Given the description of an element on the screen output the (x, y) to click on. 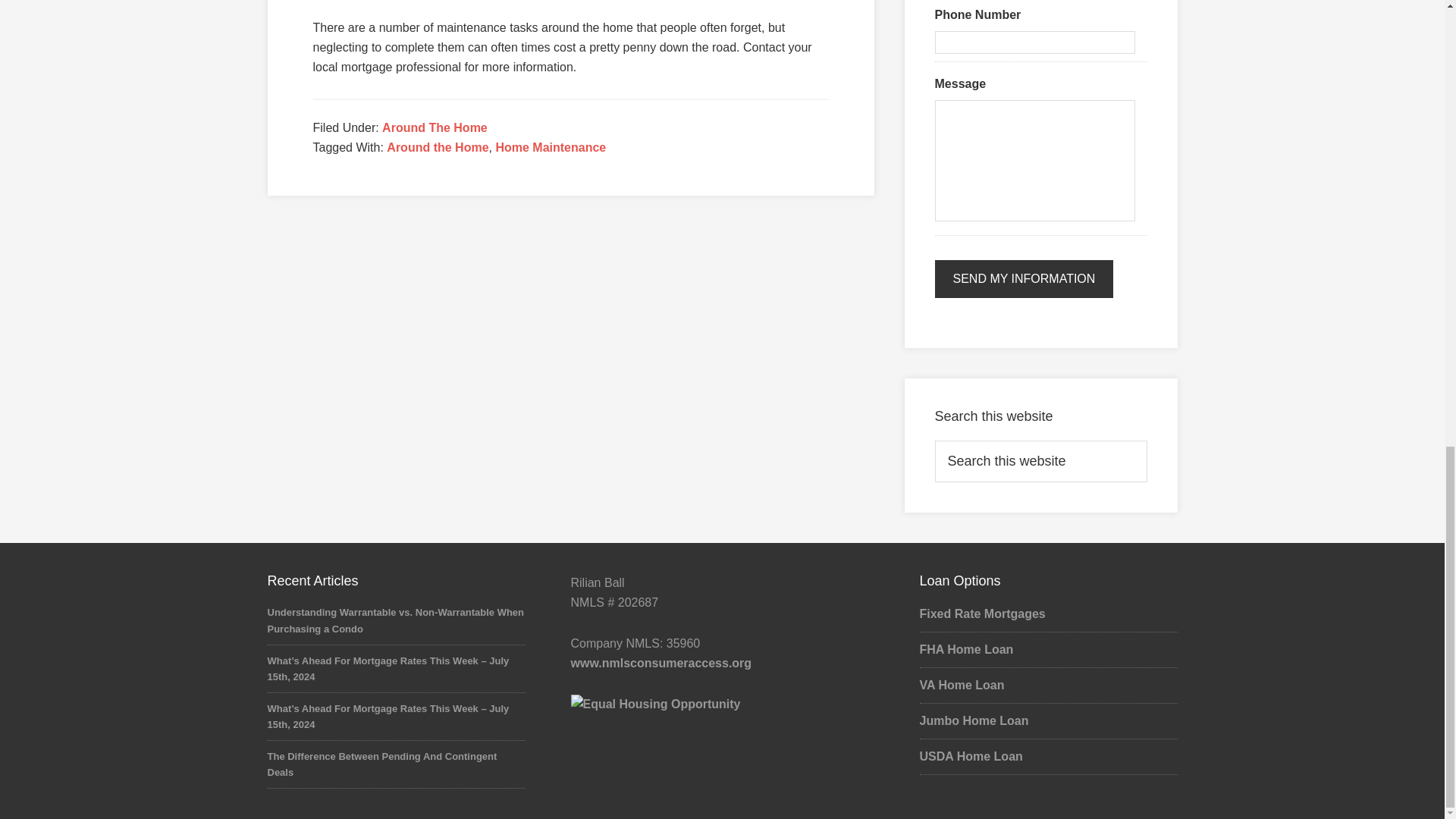
FHA Home Loan (965, 649)
Around the Home (437, 146)
Fixed Rate Mortgages (981, 613)
www.nmlsconsumeraccess.org (660, 662)
Jumbo Home Loan (972, 720)
Around The Home (434, 127)
The Difference Between Pending And Contingent Deals (381, 764)
Send My Information (1023, 279)
VA Home Loan (961, 684)
Send My Information (1023, 279)
USDA Home Loan (970, 756)
